Given the description of an element on the screen output the (x, y) to click on. 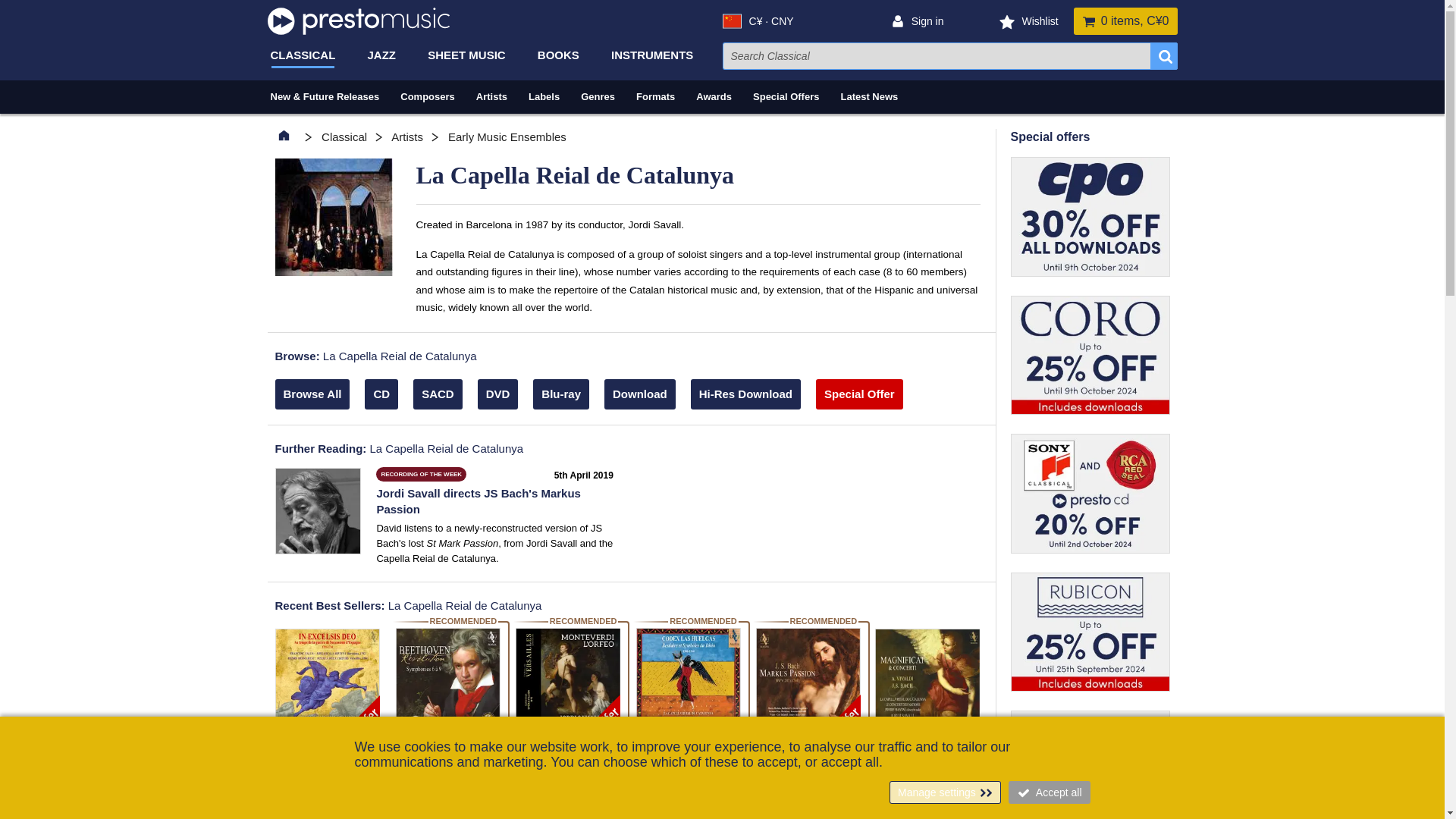
Help (1404, 767)
Sign in (925, 20)
Monteverdi: l'Orfeo (567, 680)
In Excelsis Deo (326, 680)
Codex Las Huelgas (686, 680)
Wishlist (1037, 20)
